Given the description of an element on the screen output the (x, y) to click on. 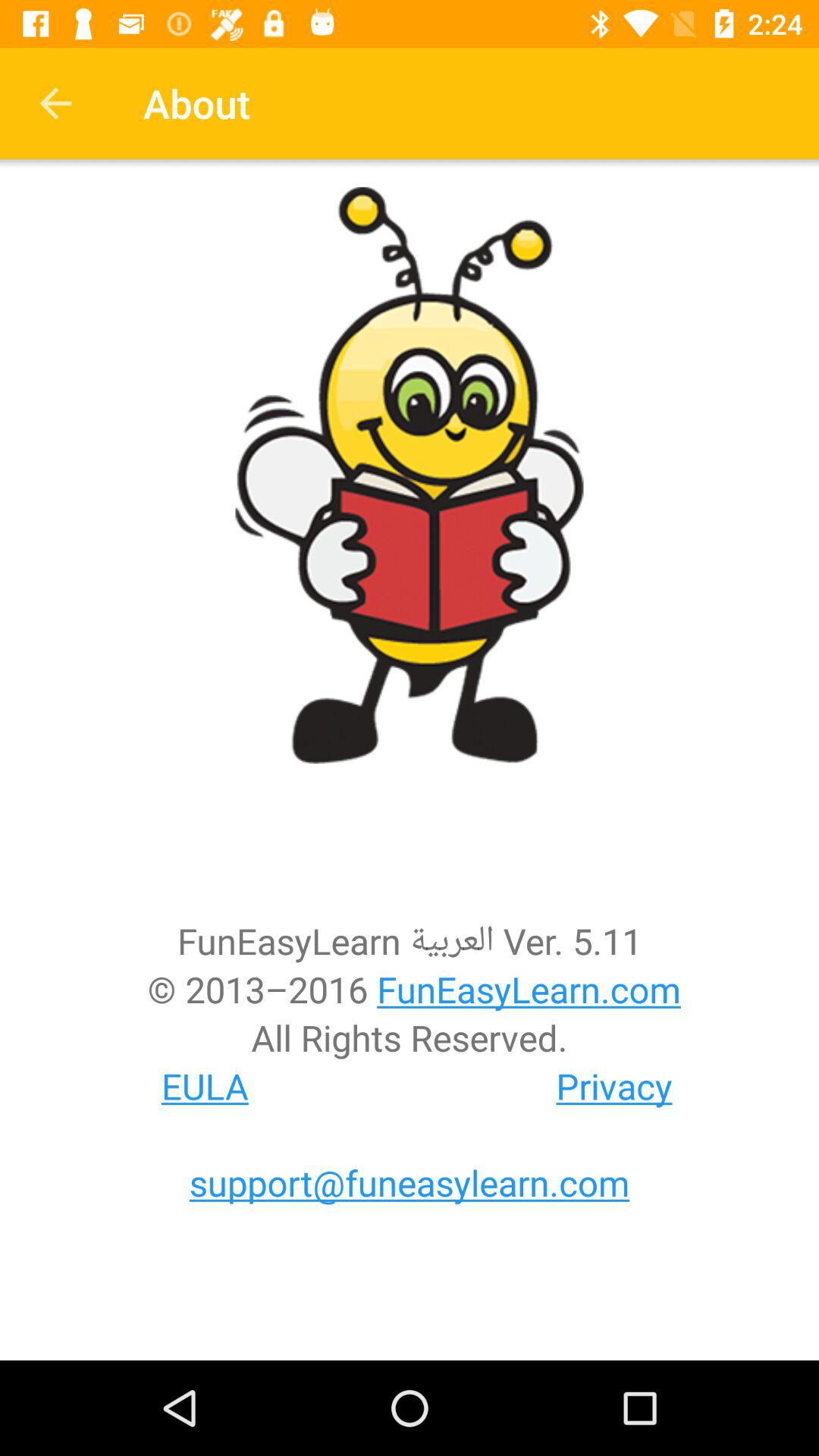
choose eula at the bottom left corner (204, 1085)
